Given the description of an element on the screen output the (x, y) to click on. 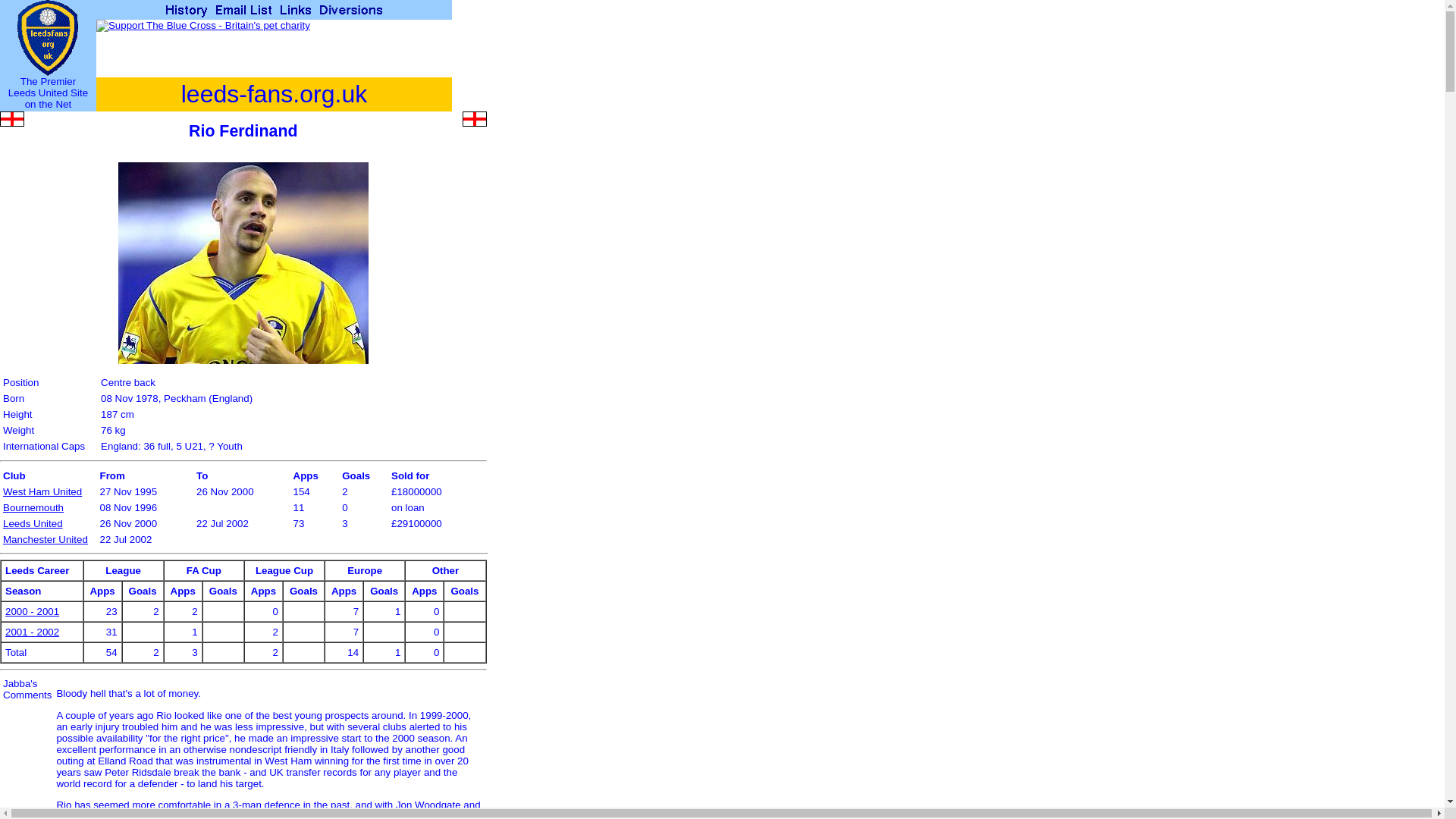
Leeds United (32, 523)
2000 - 2001 (32, 611)
Bournemouth (33, 507)
Manchester United (44, 539)
West Ham United (41, 491)
2001 - 2002 (32, 632)
